Given the description of an element on the screen output the (x, y) to click on. 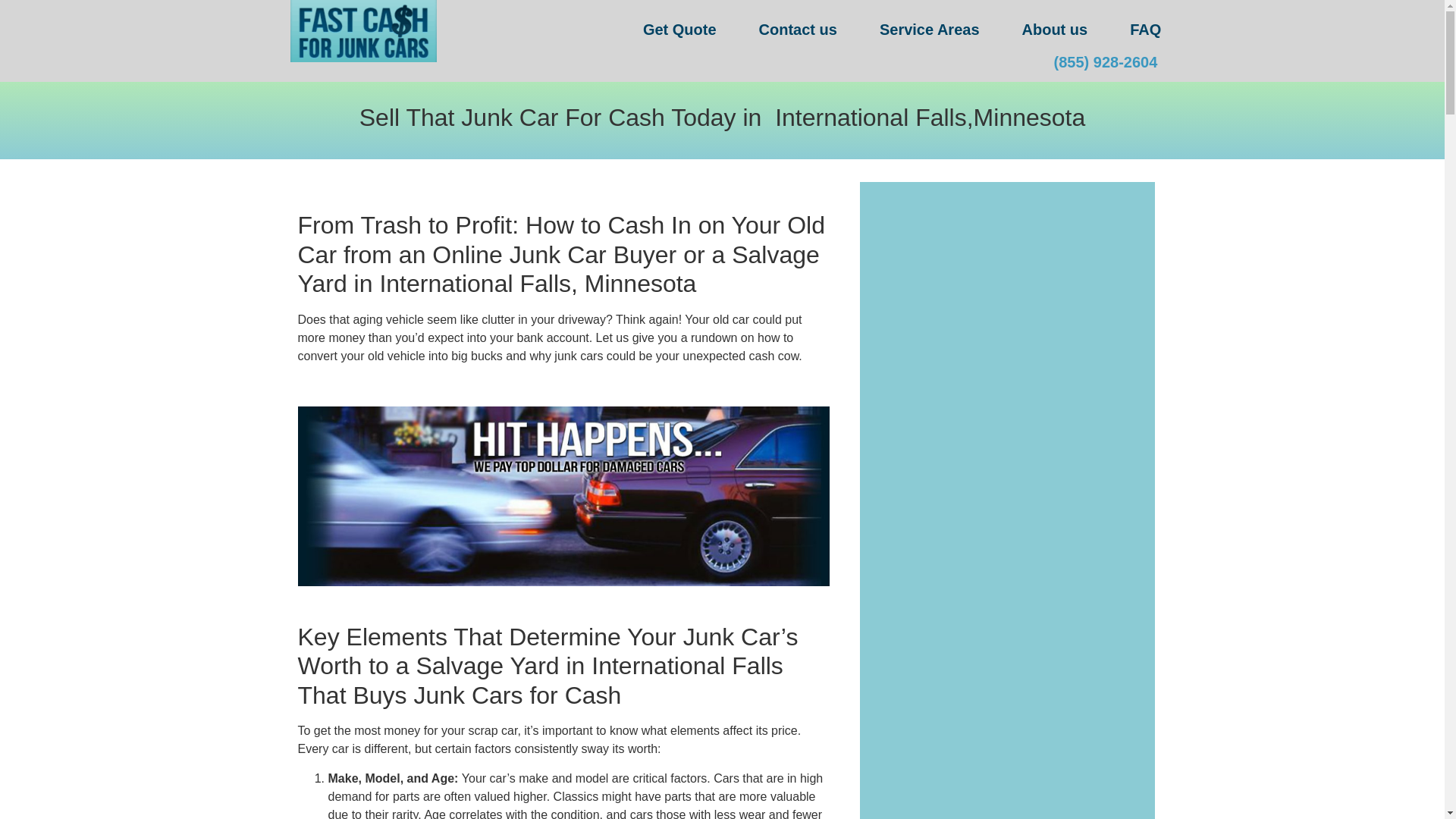
FAQ (1145, 29)
About us (1055, 29)
Contact us (798, 29)
Get Quote (679, 29)
Service Areas (930, 29)
